Given the description of an element on the screen output the (x, y) to click on. 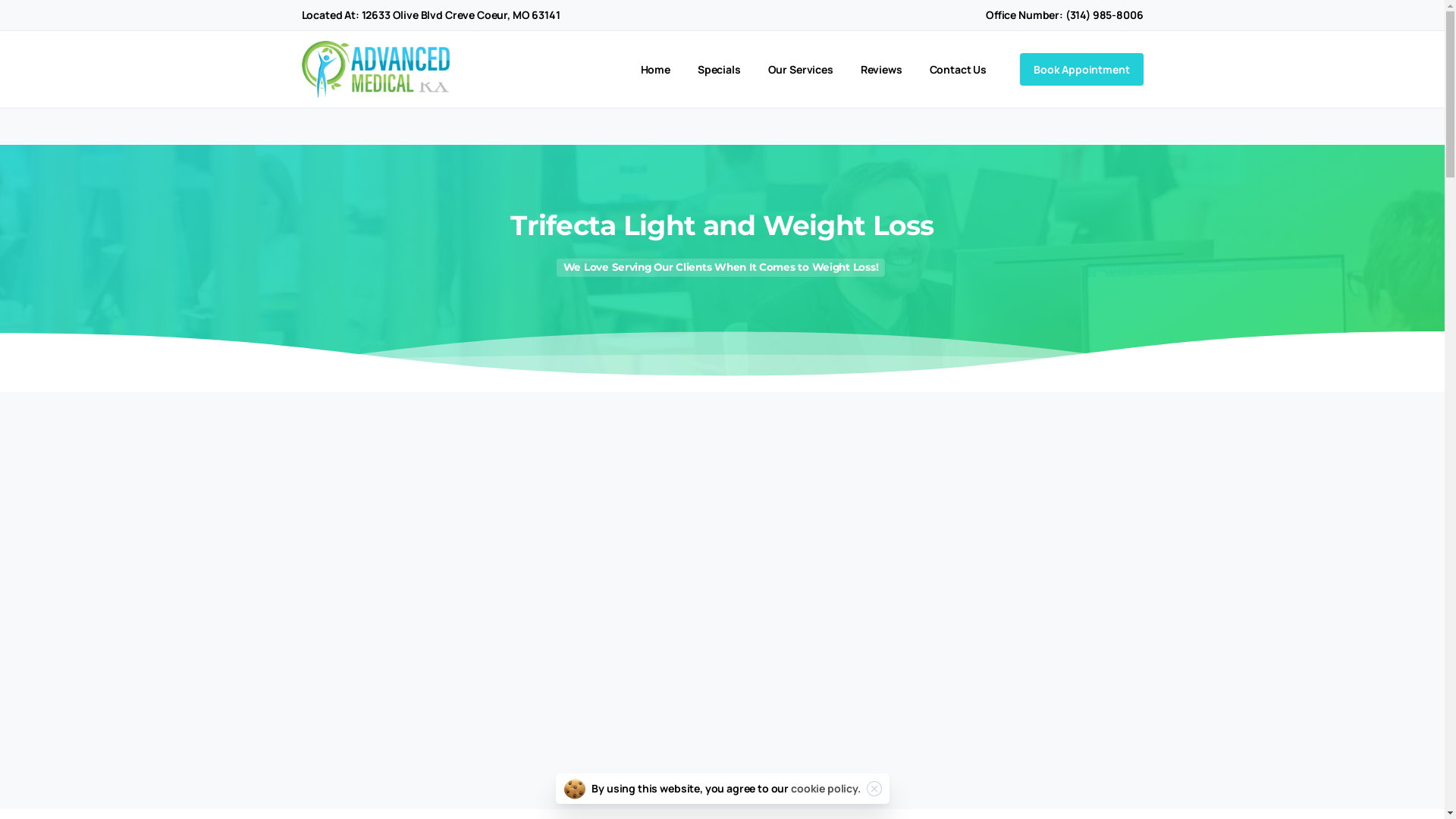
Our Services Element type: text (800, 69)
Reviews Element type: text (881, 69)
Specials Element type: text (718, 69)
cookie policy. Element type: text (825, 788)
Contact Us Element type: text (957, 69)
Home Element type: text (655, 69)
Book Appointment Element type: text (1080, 69)
